Given the description of an element on the screen output the (x, y) to click on. 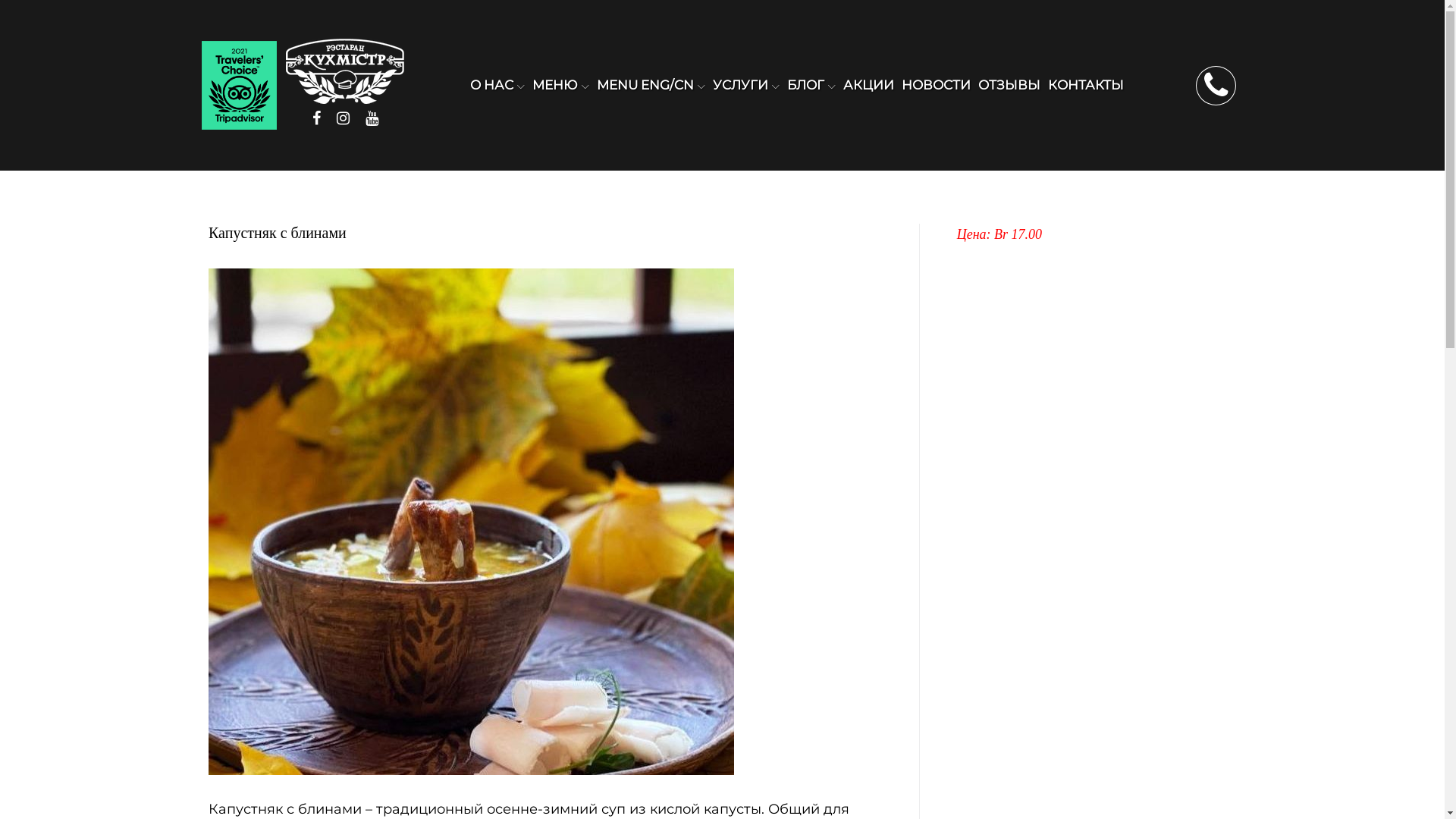
MENU ENG/CN Element type: text (650, 84)
+375291194900 Element type: text (1215, 84)
Instagram Element type: text (342, 117)
YouTube Element type: text (371, 117)
Facebook Element type: text (316, 117)
